Given the description of an element on the screen output the (x, y) to click on. 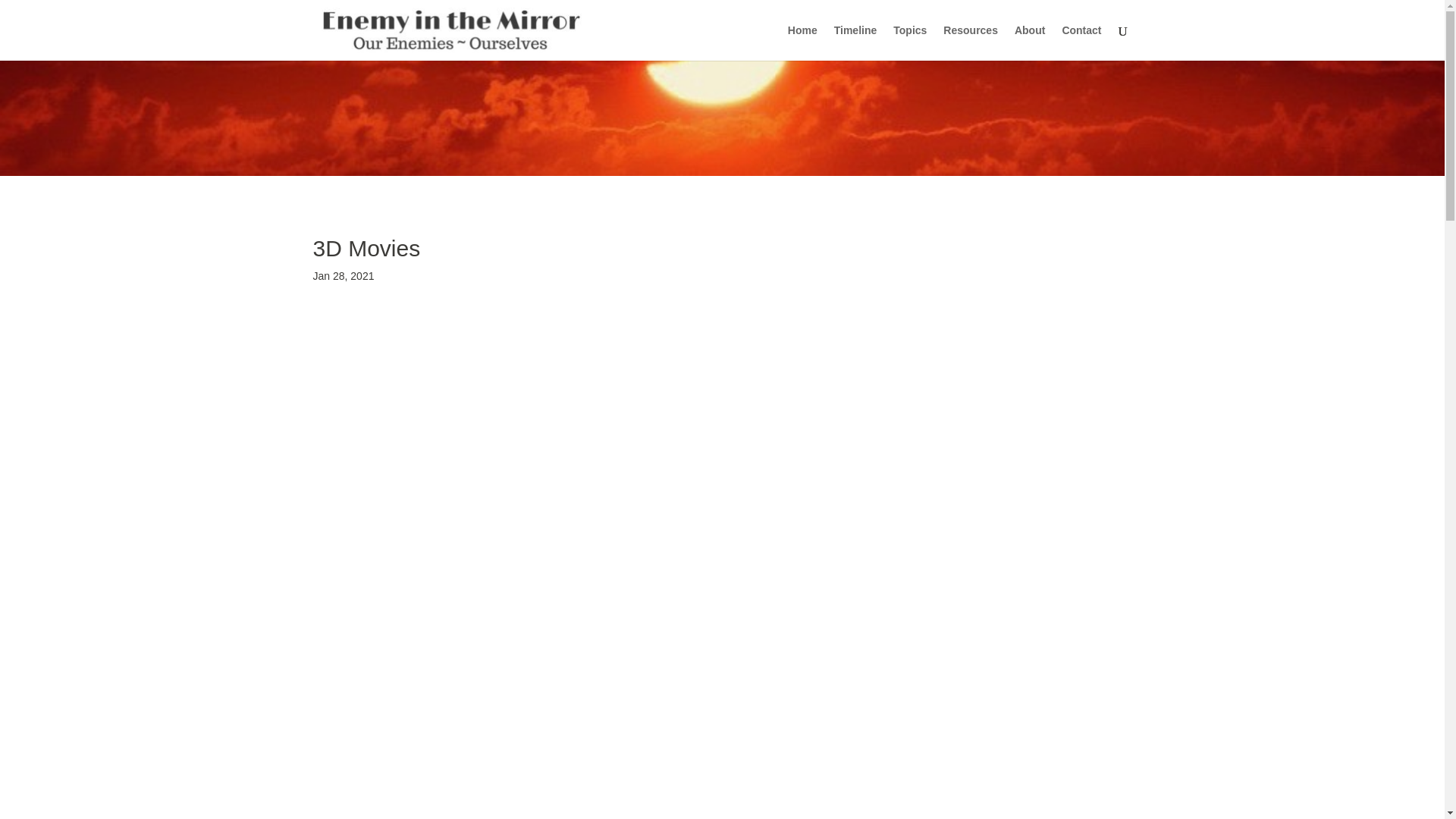
Topics (909, 42)
Resources (970, 42)
Timeline (855, 42)
Contact (1080, 42)
